Given the description of an element on the screen output the (x, y) to click on. 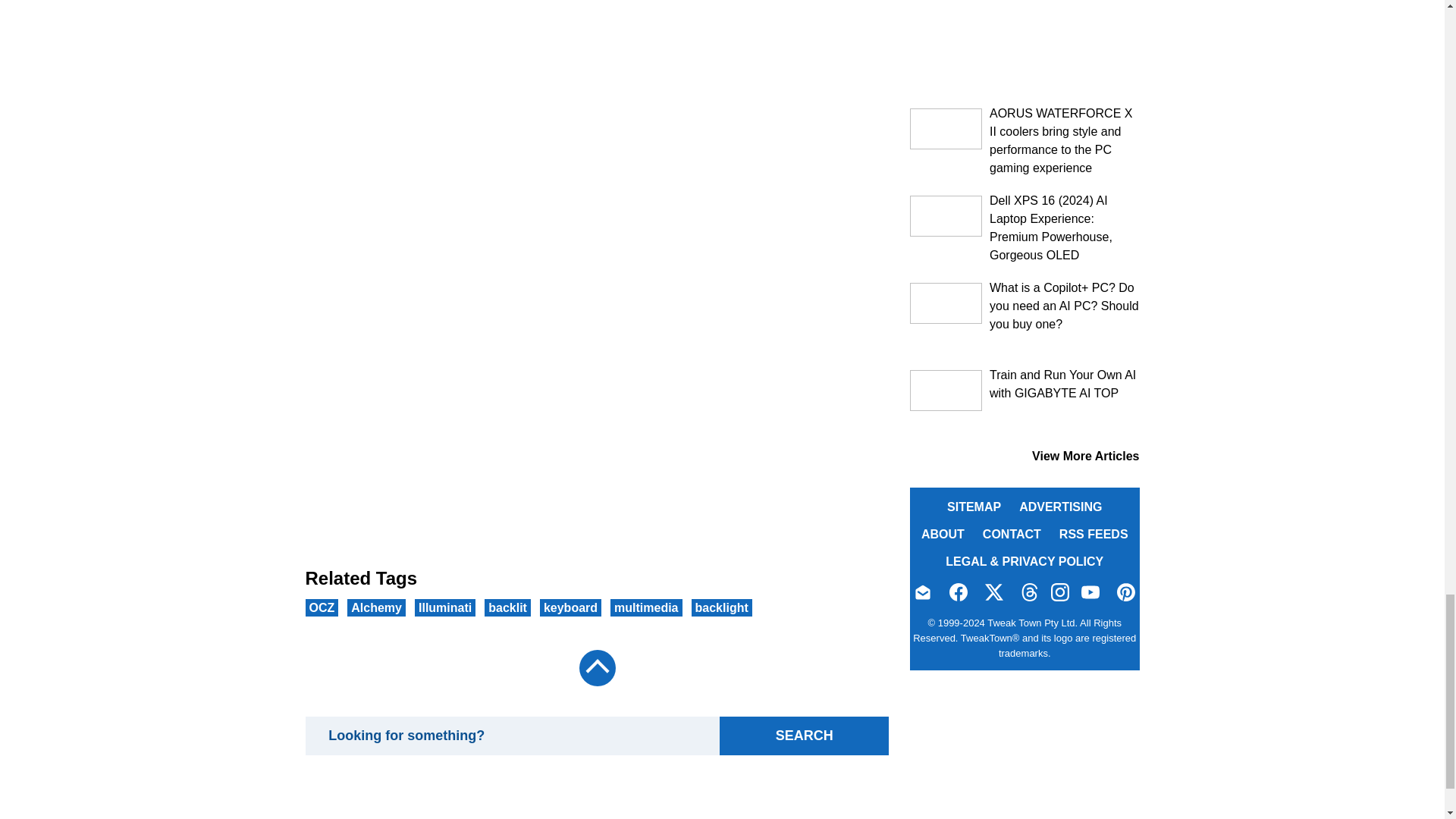
Go to top of the page (596, 668)
SEARCH (803, 735)
Search! (803, 735)
Please enter your search term! (511, 735)
